Given the description of an element on the screen output the (x, y) to click on. 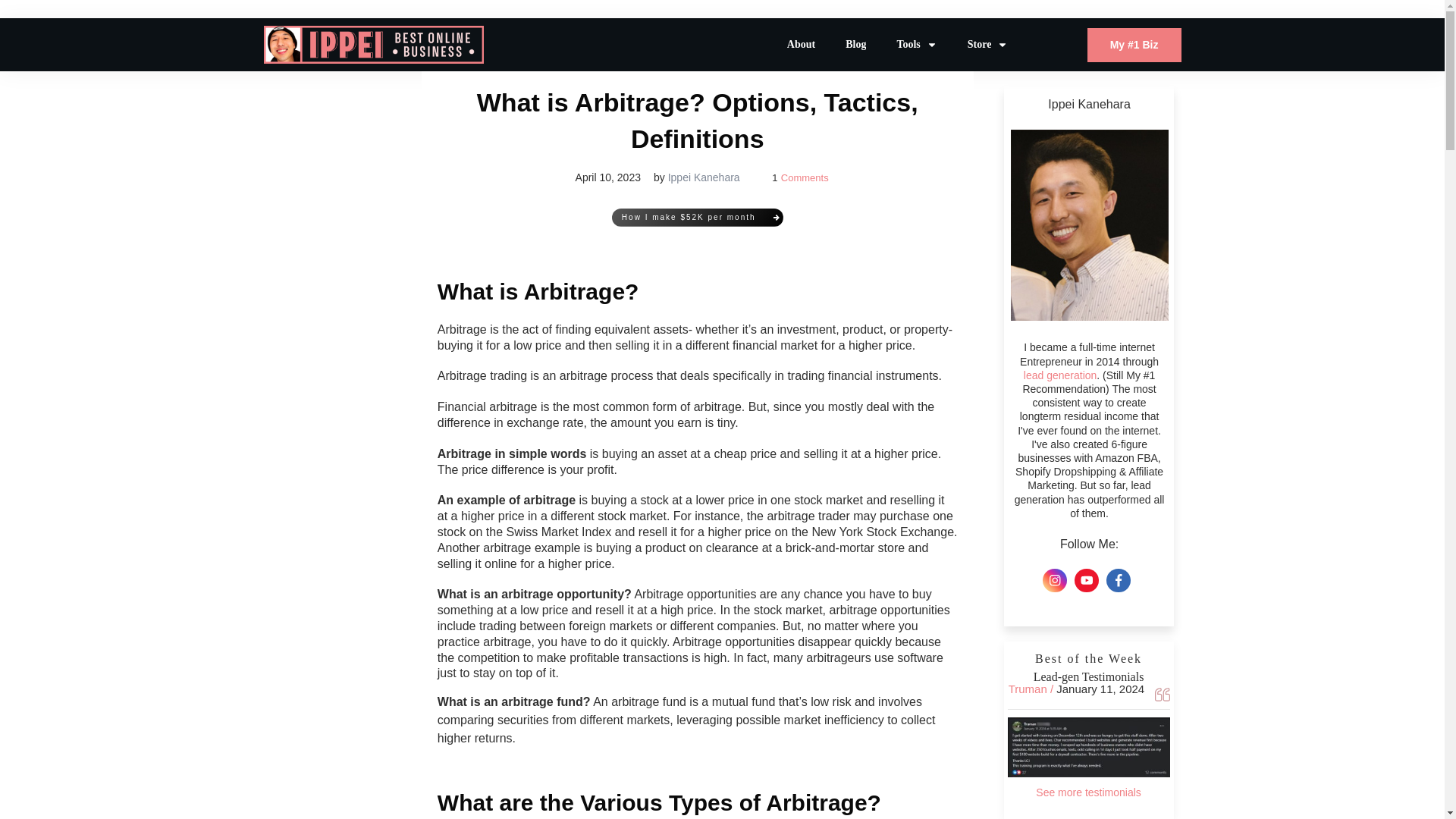
Ippei Kanehara (703, 177)
Comments (804, 177)
Ippei Kanehara (703, 177)
Comments (804, 177)
See more testimonials (1088, 792)
lead generation (1060, 375)
About (801, 44)
Tools (916, 44)
Store (988, 44)
01-11-2024-am-05-29-trady (1088, 747)
